Given the description of an element on the screen output the (x, y) to click on. 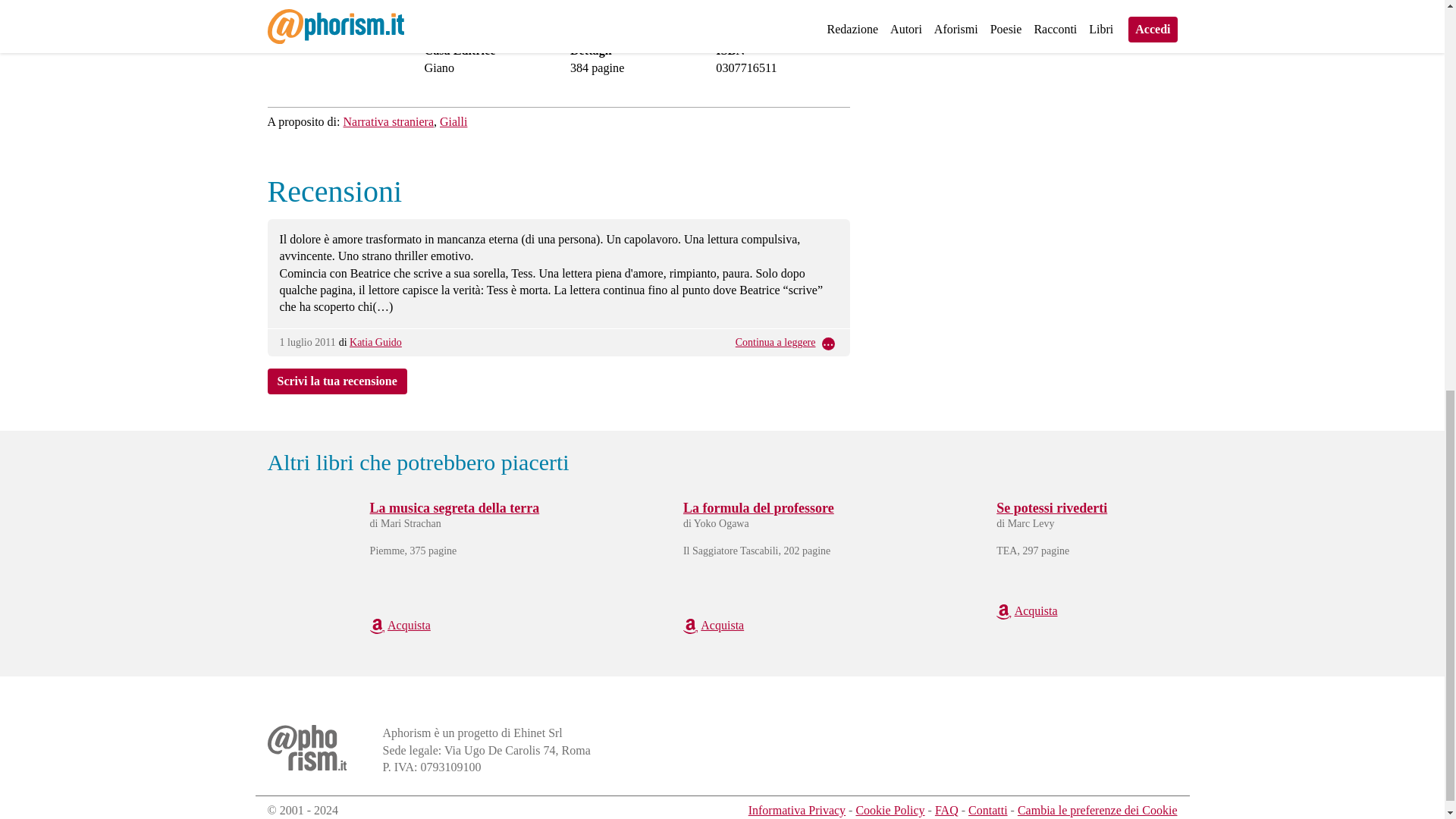
FAQ (946, 809)
La musica segreta della terra (454, 507)
Katia Guido (375, 342)
Acquista La formula del professore su Amazon (713, 625)
Acquista (1026, 610)
Acquista La musica segreta della terra su Amazon (399, 625)
Acquista (399, 625)
Narrativa straniera (388, 121)
Scrivi la tua recensione (494, 11)
La formula del professore (758, 507)
